Given the description of an element on the screen output the (x, y) to click on. 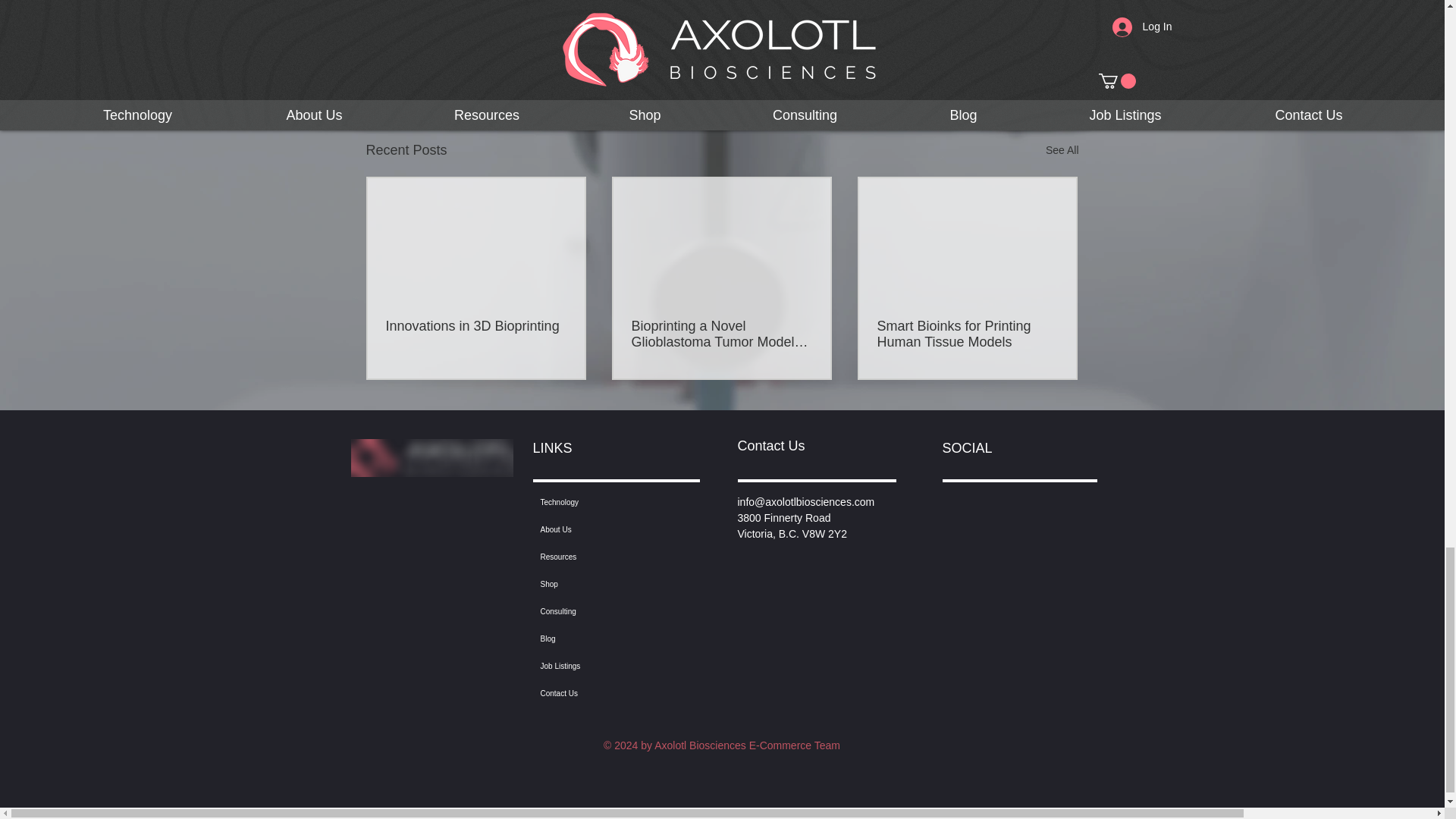
Innovations in 3D Bioprinting (475, 326)
Resources (611, 556)
Blog (611, 638)
Smart Bioinks for Printing Human Tissue Models (966, 334)
AxolotlBioscienceHybridLogo-removebg-preview.png (431, 457)
Shop (611, 584)
See All (1061, 150)
Technology (611, 502)
Consulting (611, 611)
About Us (611, 529)
